Given the description of an element on the screen output the (x, y) to click on. 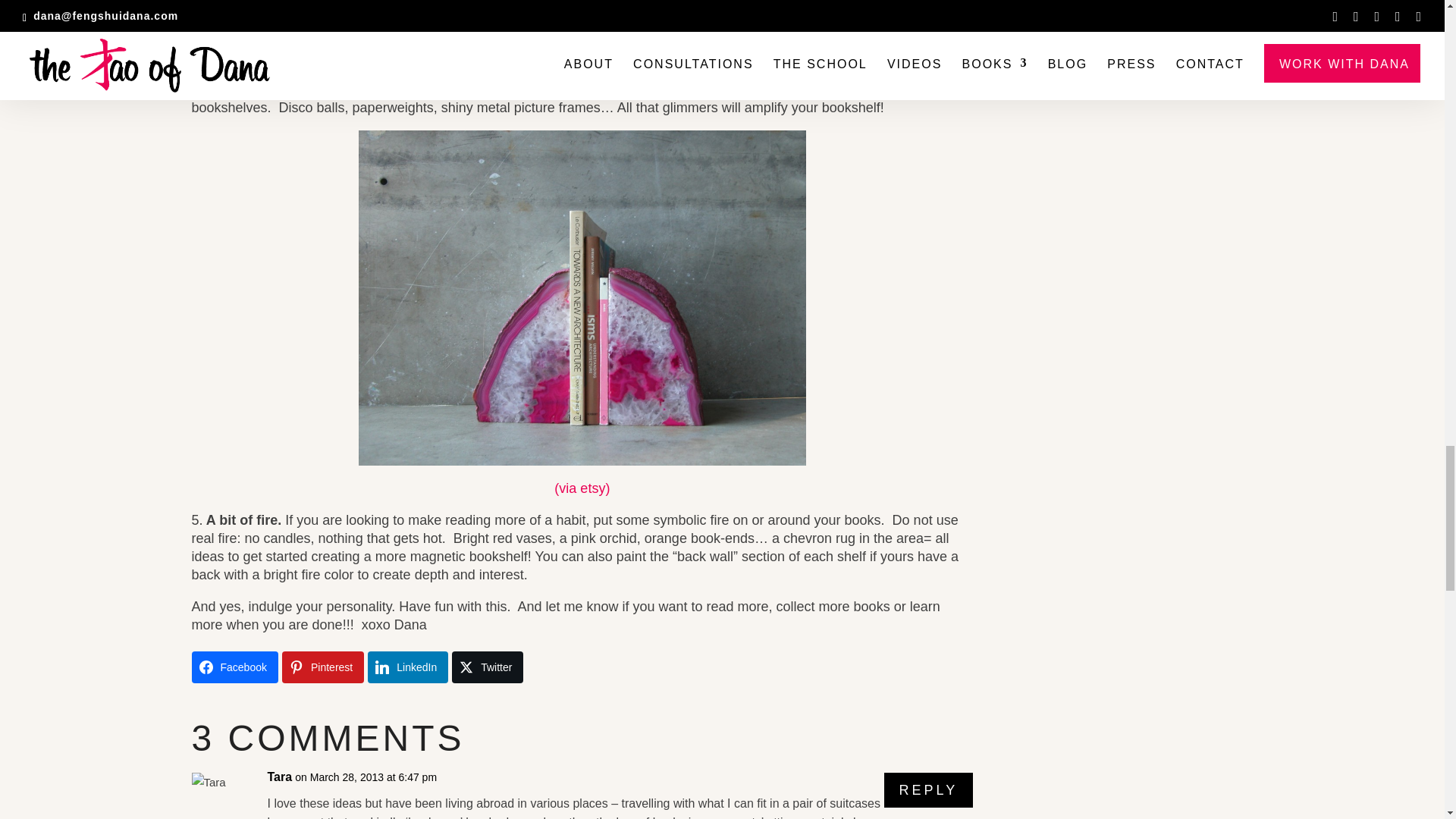
Share on Pinterest (323, 667)
Share on LinkedIn (408, 667)
Share on Facebook (234, 667)
Share on Twitter (486, 667)
